Given the description of an element on the screen output the (x, y) to click on. 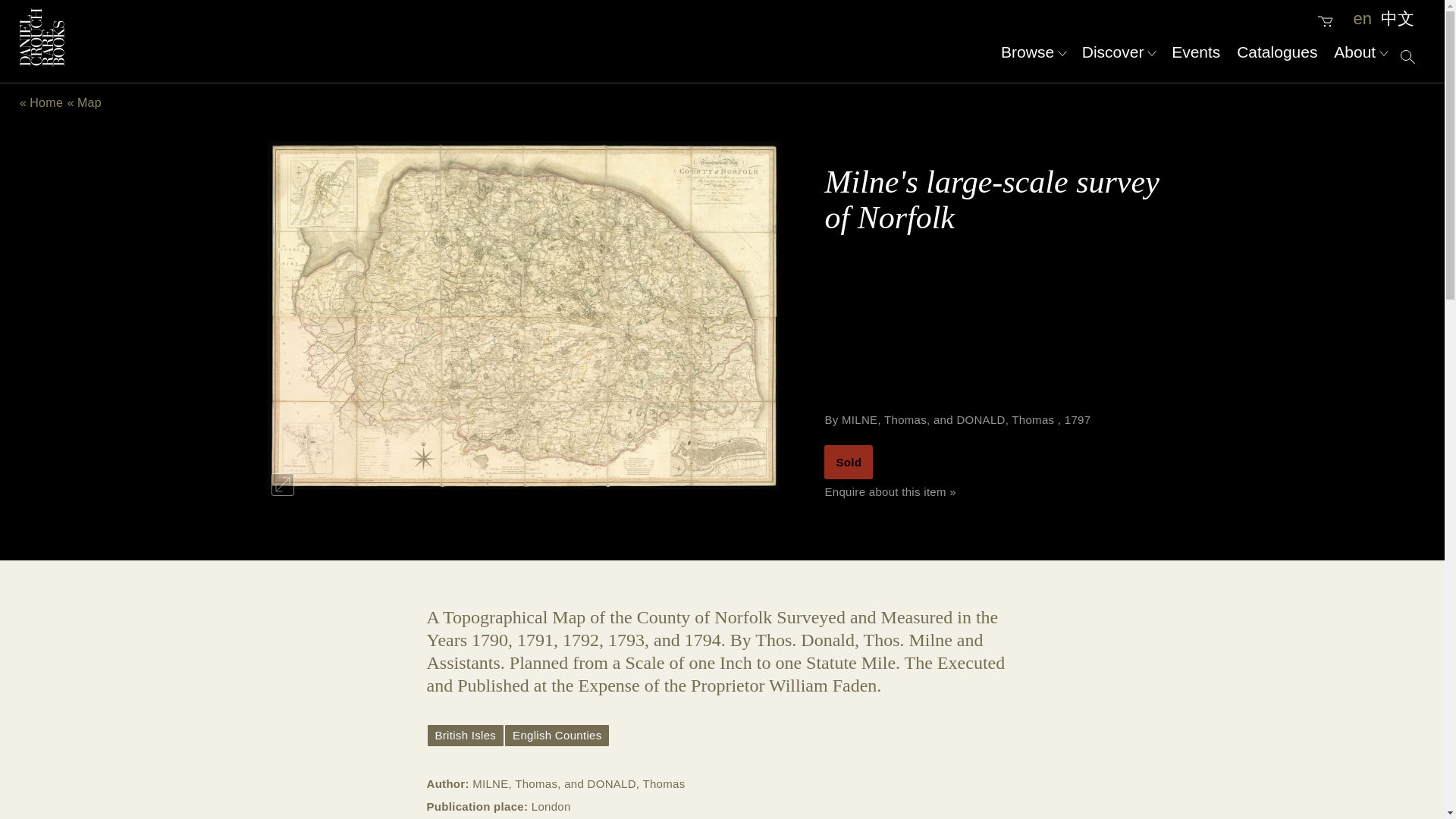
Catalogues (1276, 51)
en (1362, 18)
Daniel Crouch Rare Books logo (42, 37)
Daniel Crouch Rare Books logo (42, 61)
Events (1196, 51)
